Given the description of an element on the screen output the (x, y) to click on. 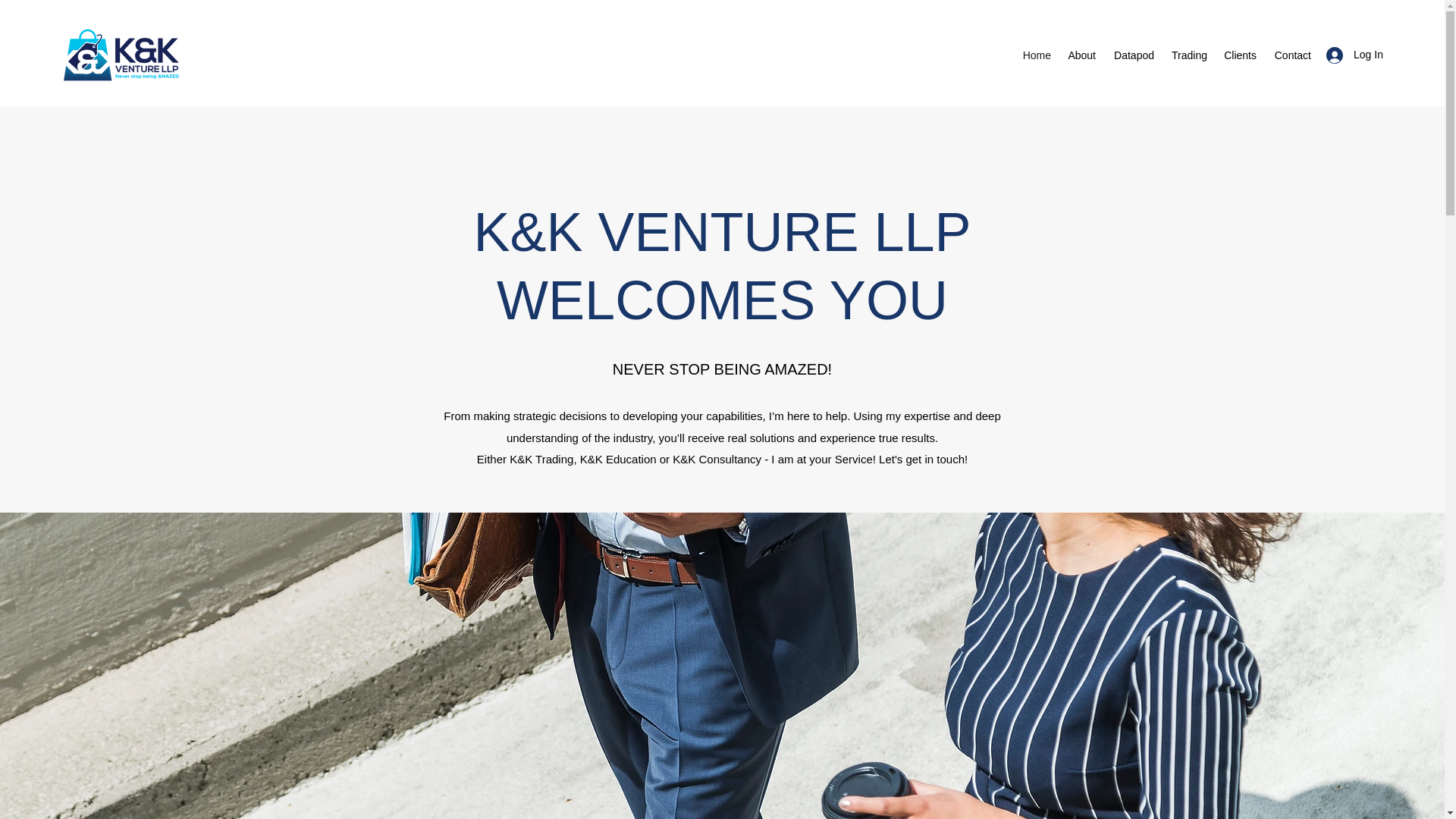
Datapod (1132, 55)
Contact (1291, 55)
Trading (1187, 55)
About (1080, 55)
Clients (1238, 55)
Home (1035, 55)
Log In (1350, 54)
